Given the description of an element on the screen output the (x, y) to click on. 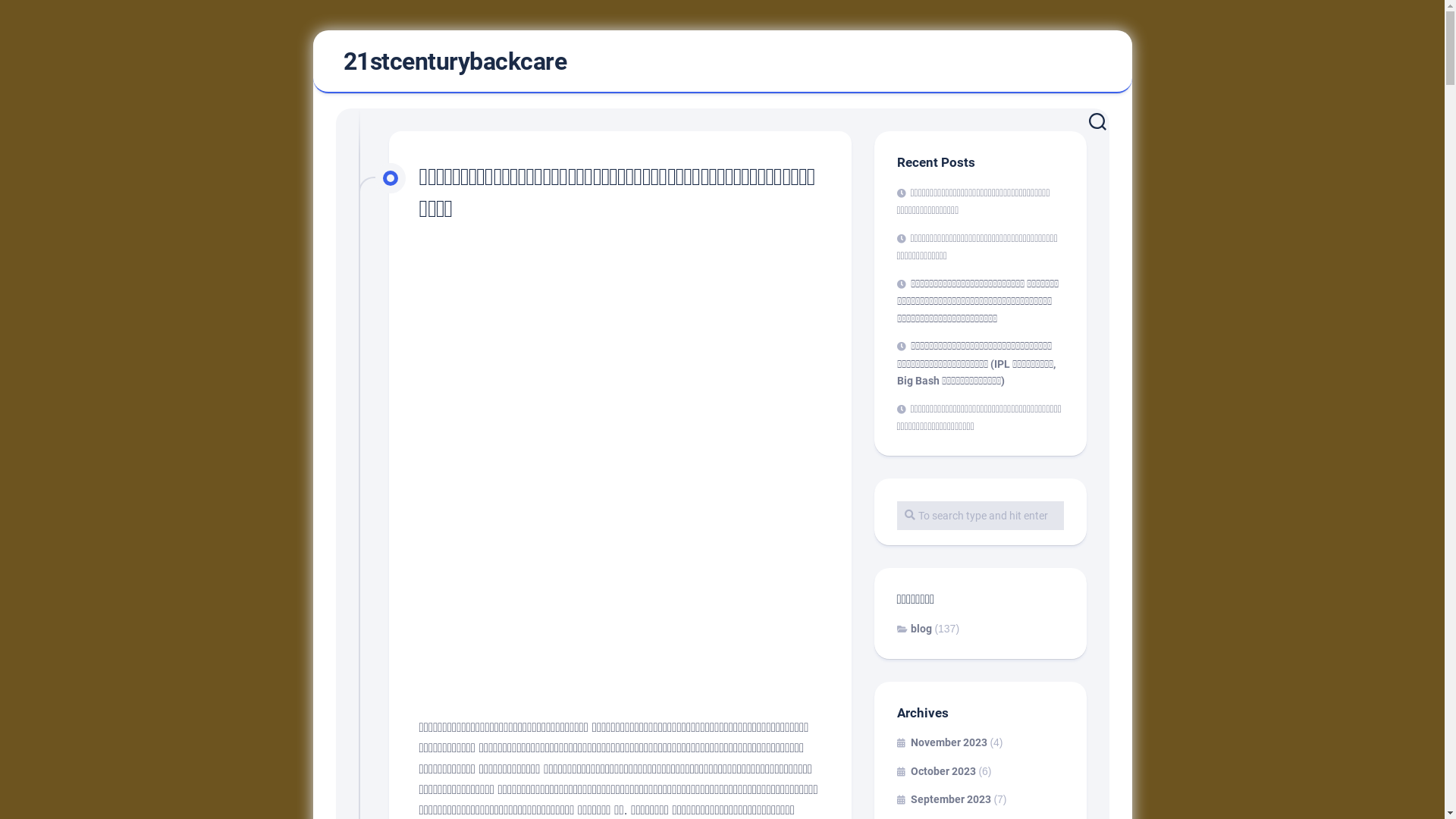
21stcenturybackcare Element type: text (454, 61)
September 2023 Element type: text (943, 799)
blog Element type: text (913, 628)
November 2023 Element type: text (941, 742)
October 2023 Element type: text (935, 770)
